Given the description of an element on the screen output the (x, y) to click on. 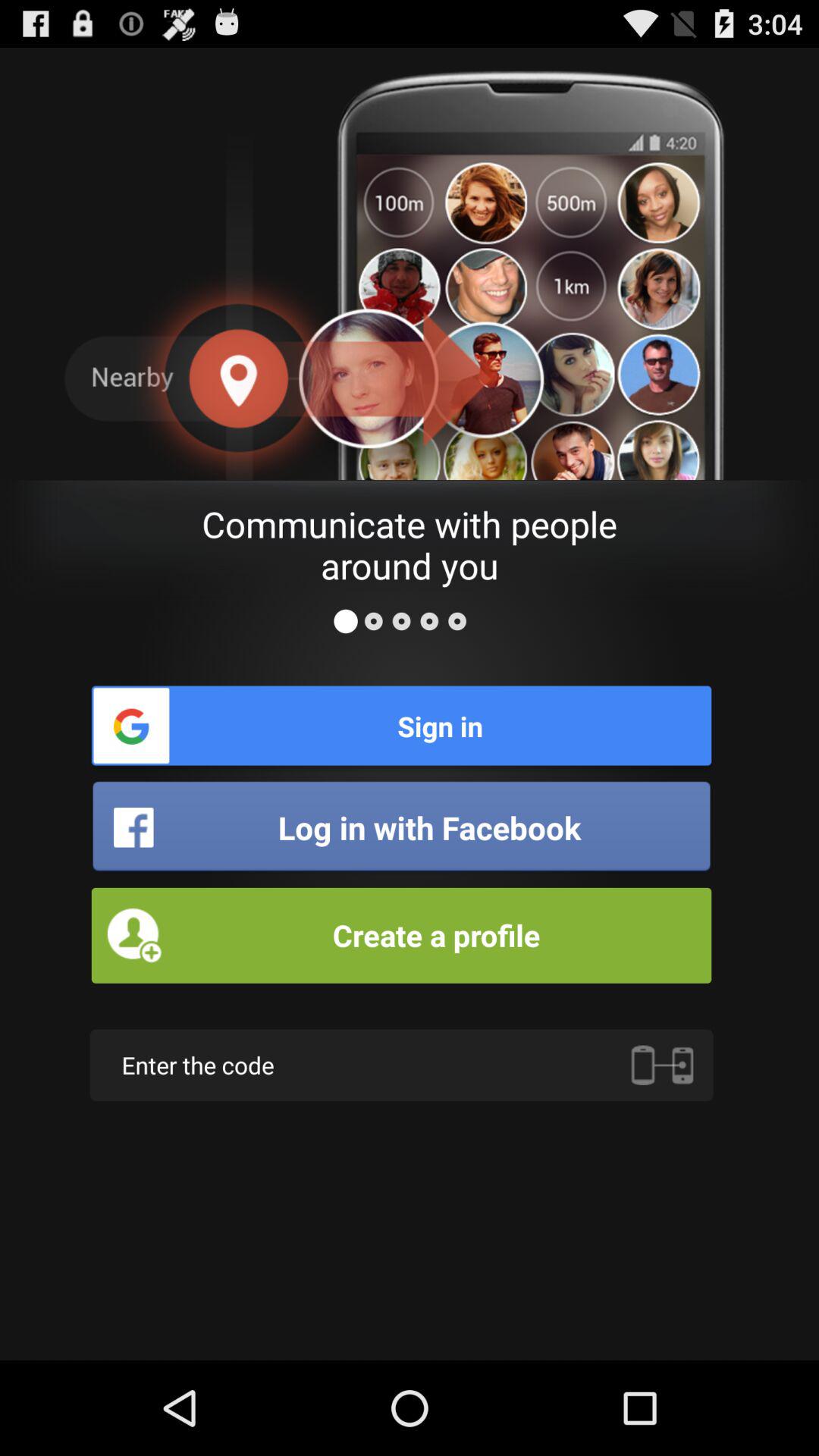
click the log in with (401, 827)
